Given the description of an element on the screen output the (x, y) to click on. 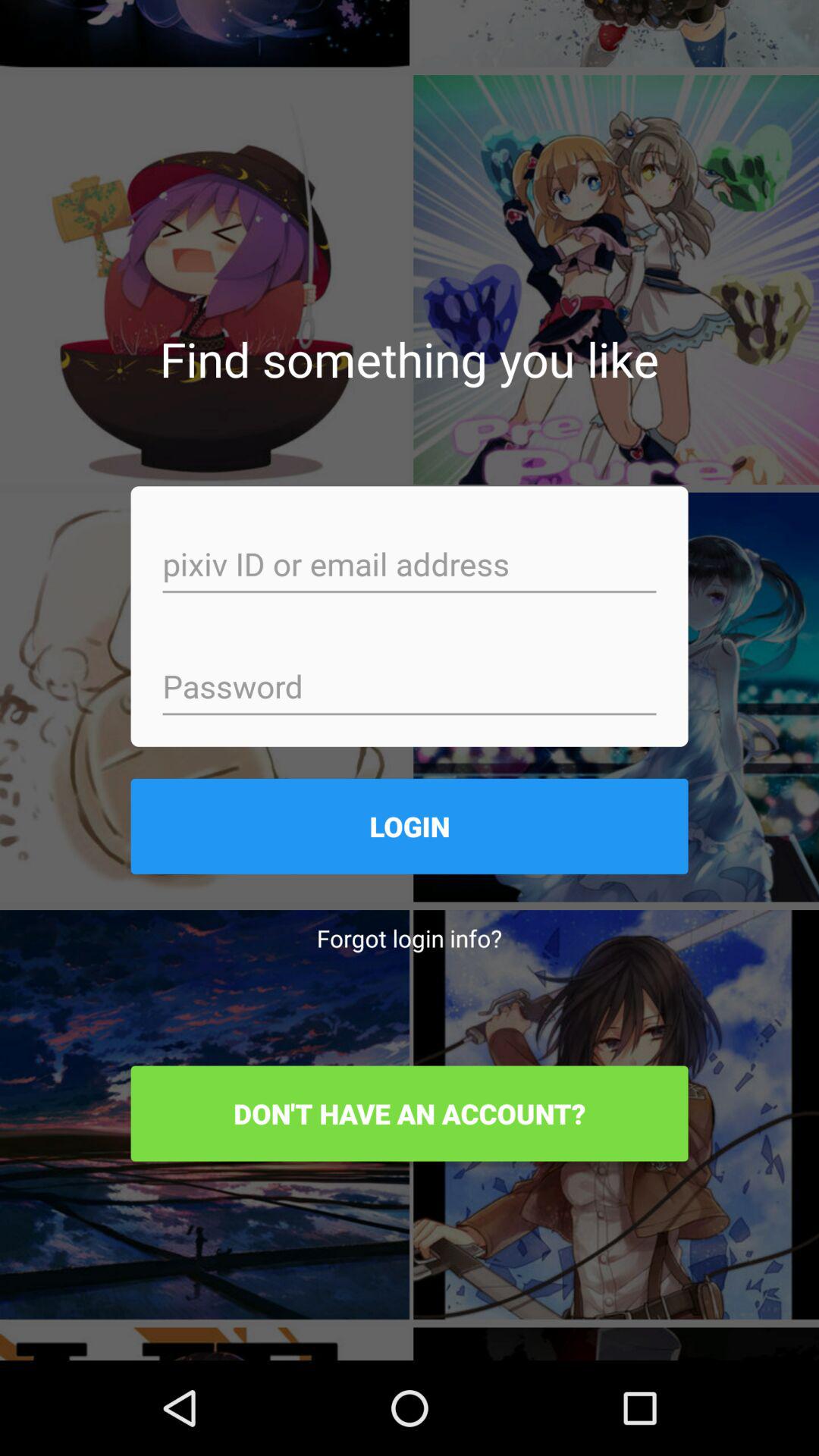
password (409, 688)
